Given the description of an element on the screen output the (x, y) to click on. 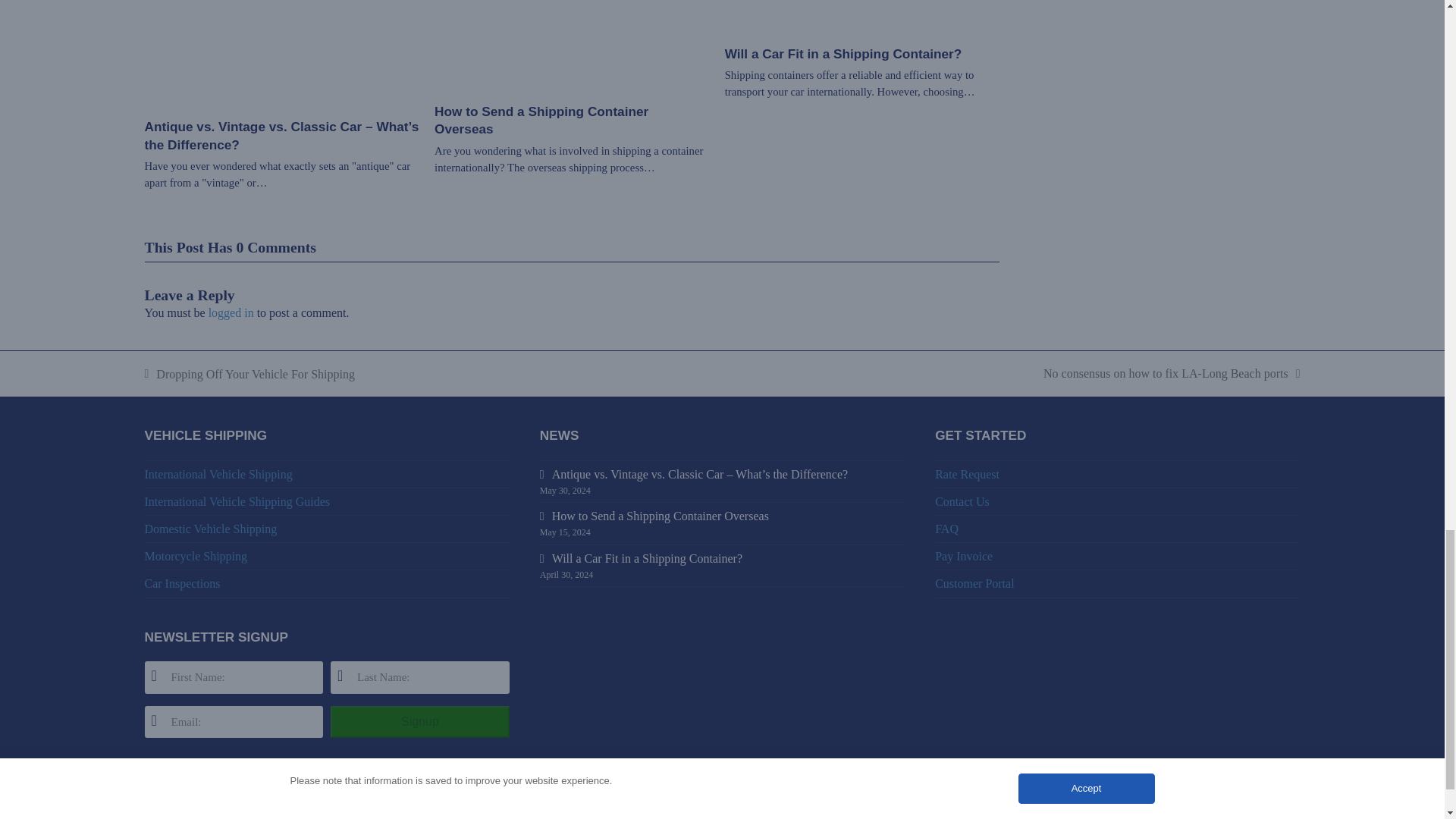
Will a Car Fit in a Shipping Container? (862, 2)
How to Send a Shipping Container Overseas (571, 27)
